Given the description of an element on the screen output the (x, y) to click on. 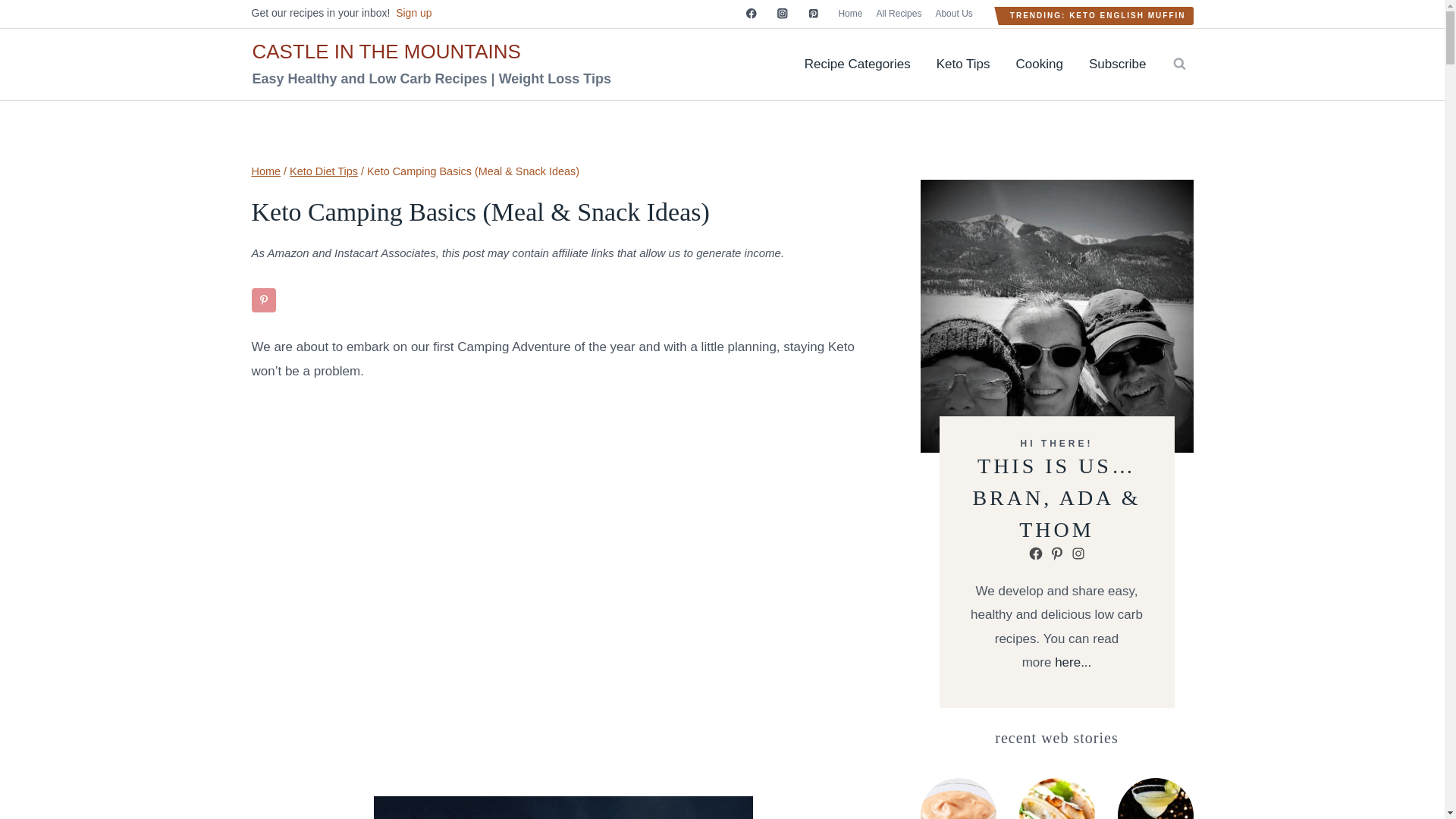
Home (850, 13)
Keto Tips (963, 64)
TRENDING: KETO ENGLISH MUFFIN (1098, 15)
Cooking (1039, 64)
Sign up (413, 12)
Home (266, 171)
Recipe Categories (857, 64)
All Recipes (898, 13)
About Us (953, 13)
Subscribe (1116, 64)
